Given the description of an element on the screen output the (x, y) to click on. 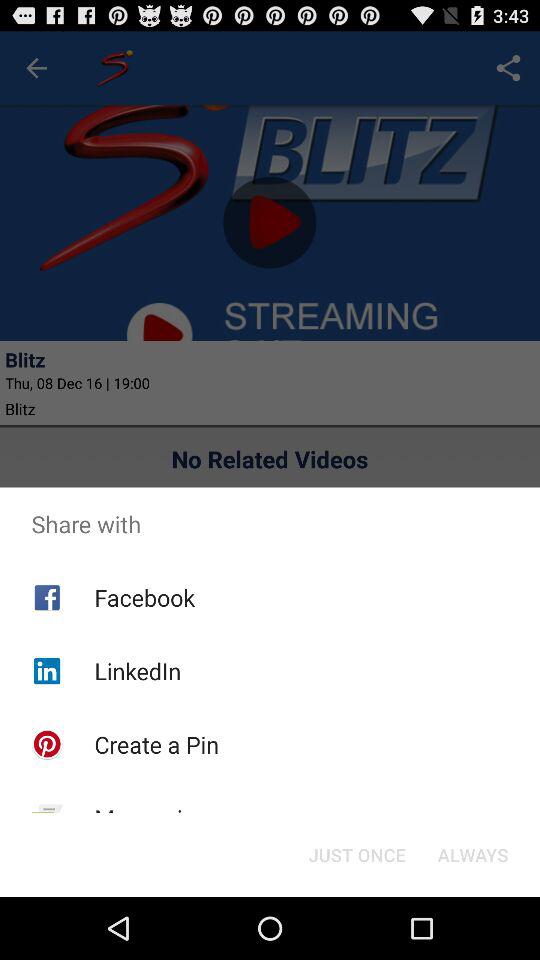
swipe until the messaging item (151, 817)
